Given the description of an element on the screen output the (x, y) to click on. 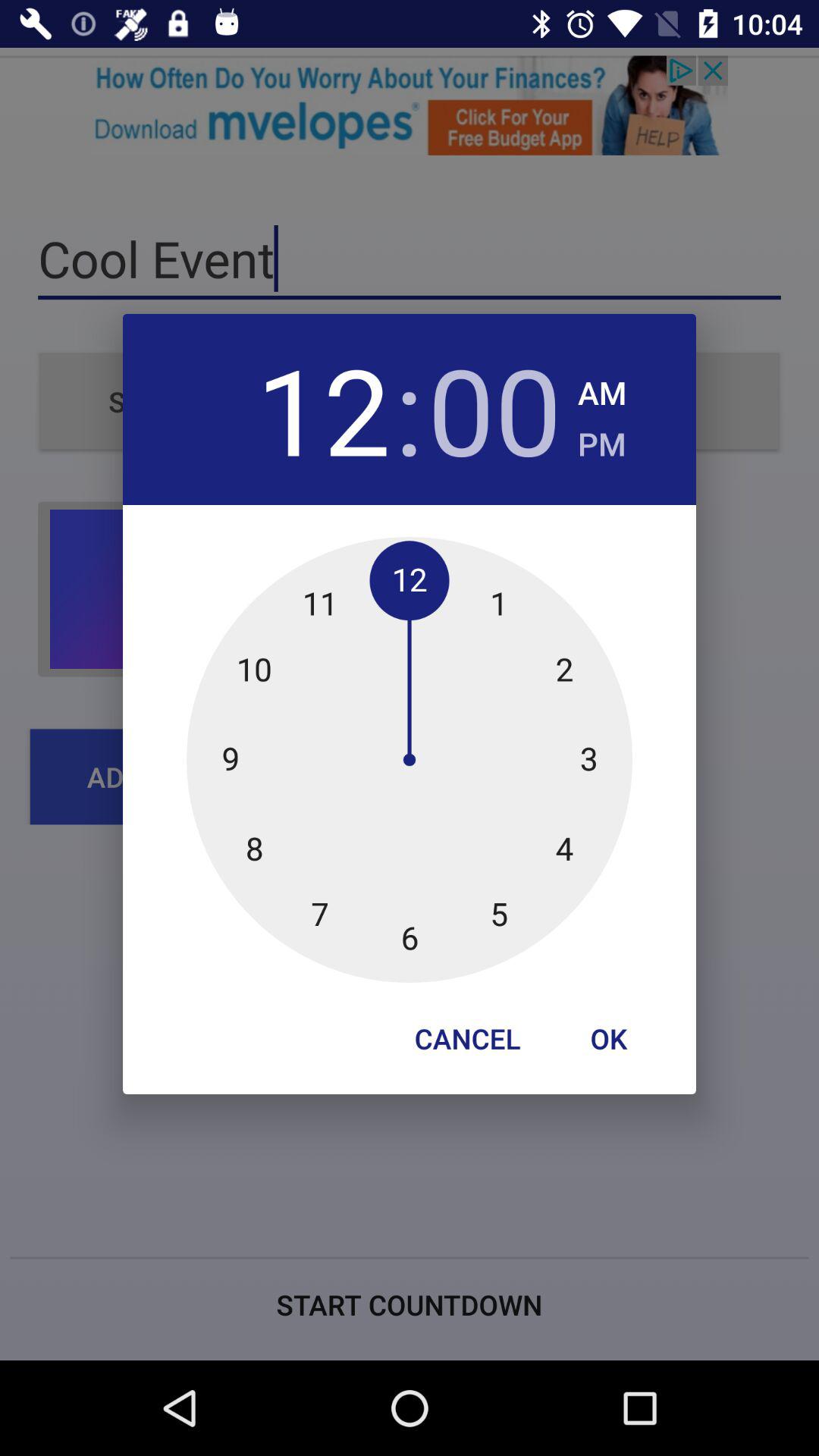
scroll to cancel button (467, 1038)
